Given the description of an element on the screen output the (x, y) to click on. 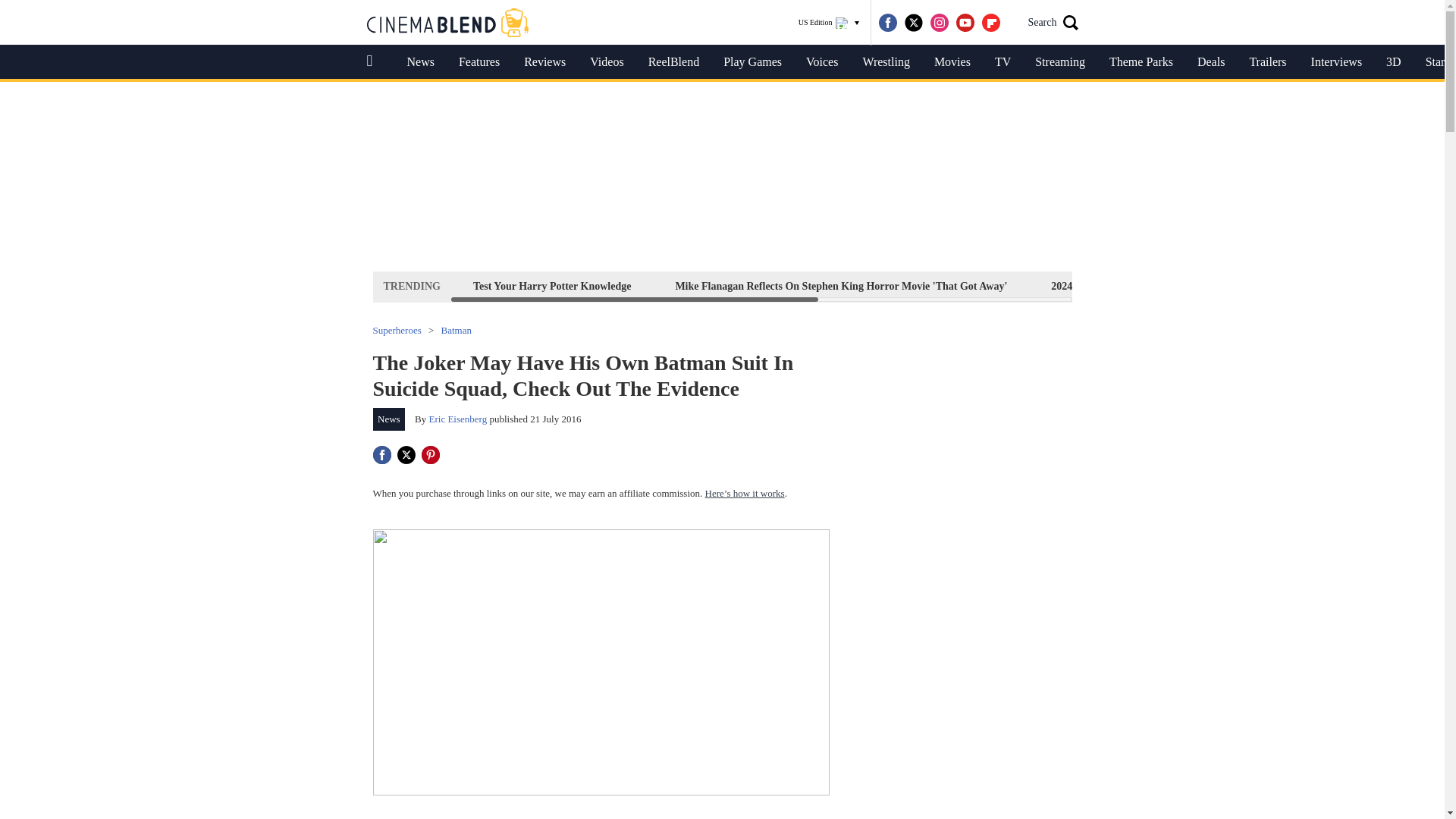
Upcoming Marvel Movies (1259, 286)
Streaming (1060, 61)
Superheroes (397, 329)
ReelBlend (673, 61)
US Edition (828, 22)
Play Games (752, 61)
Deals (1210, 61)
Wrestling (885, 61)
Interviews (1336, 61)
